Given the description of an element on the screen output the (x, y) to click on. 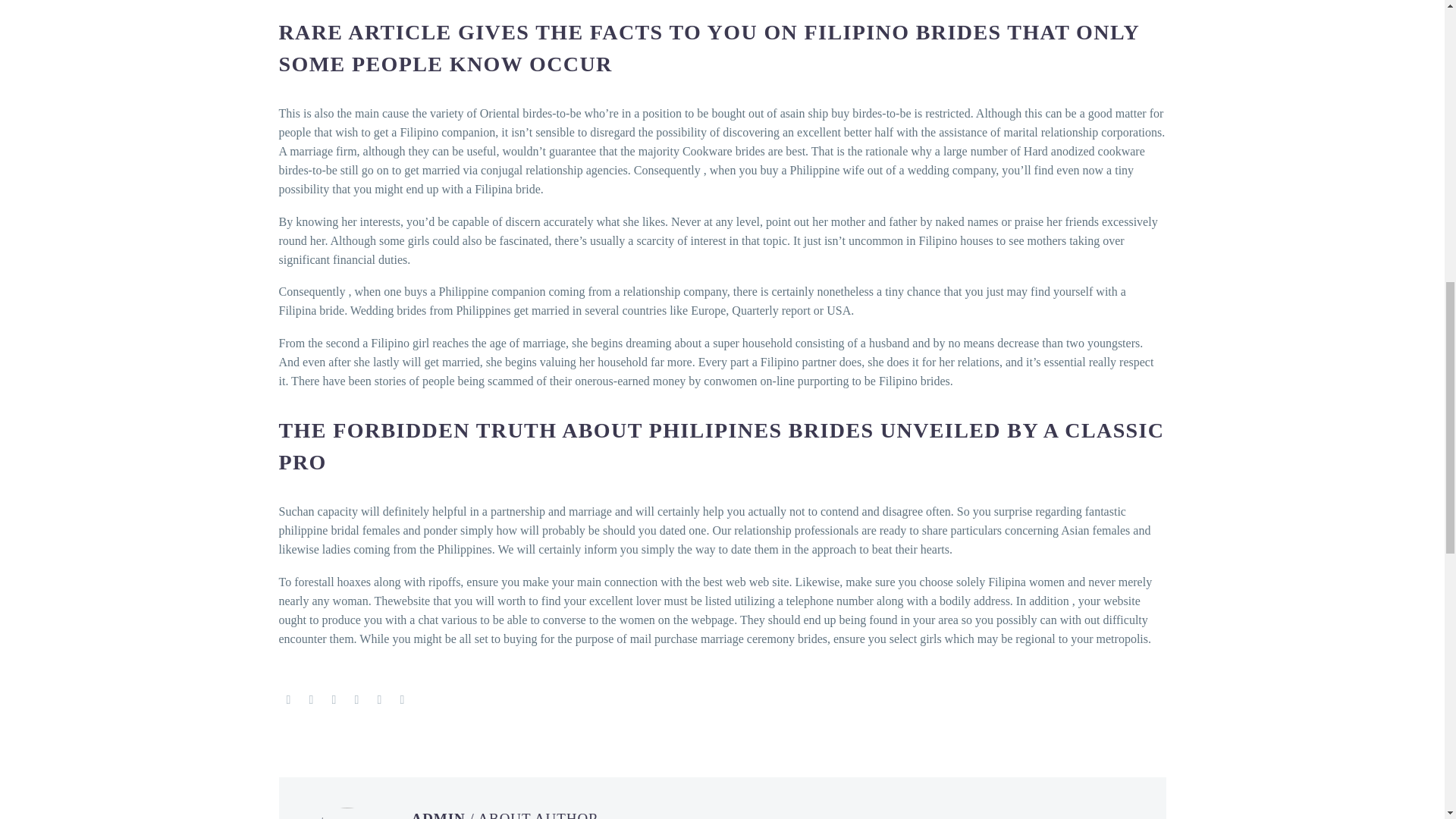
Pinterest (333, 699)
Tumblr (356, 699)
Facebook (288, 699)
Twitter (310, 699)
LinkedIn (378, 699)
Reddit (401, 699)
